Given the description of an element on the screen output the (x, y) to click on. 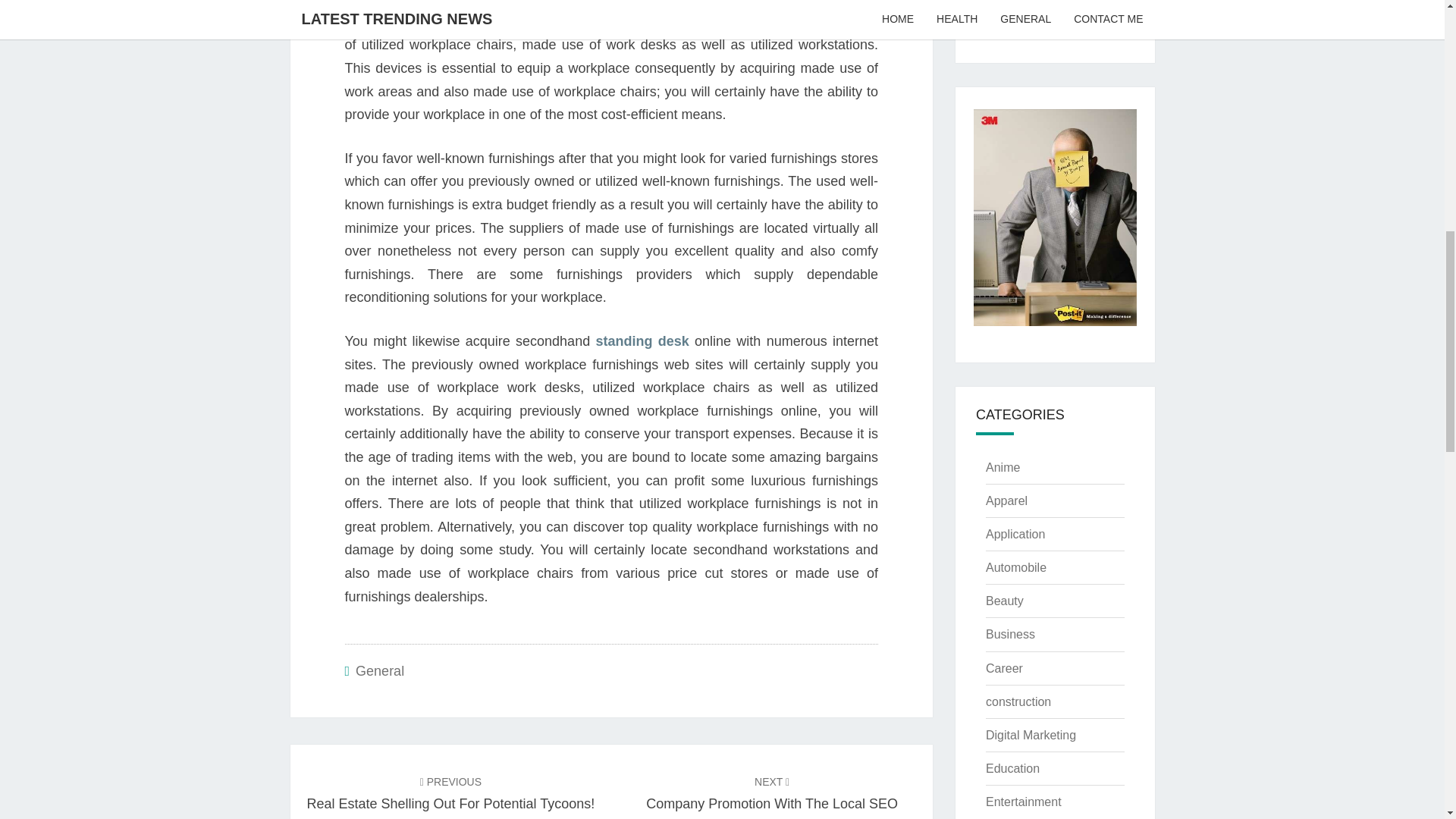
Beauty (1004, 600)
construction (1018, 701)
Education (1012, 768)
Business (449, 792)
standing desk (1010, 634)
Anime (641, 340)
Career (772, 796)
Apparel (1002, 467)
Digital Marketing (1004, 667)
General (1006, 500)
Application (1030, 735)
Entertainment (379, 670)
Automobile (1015, 533)
